Given the description of an element on the screen output the (x, y) to click on. 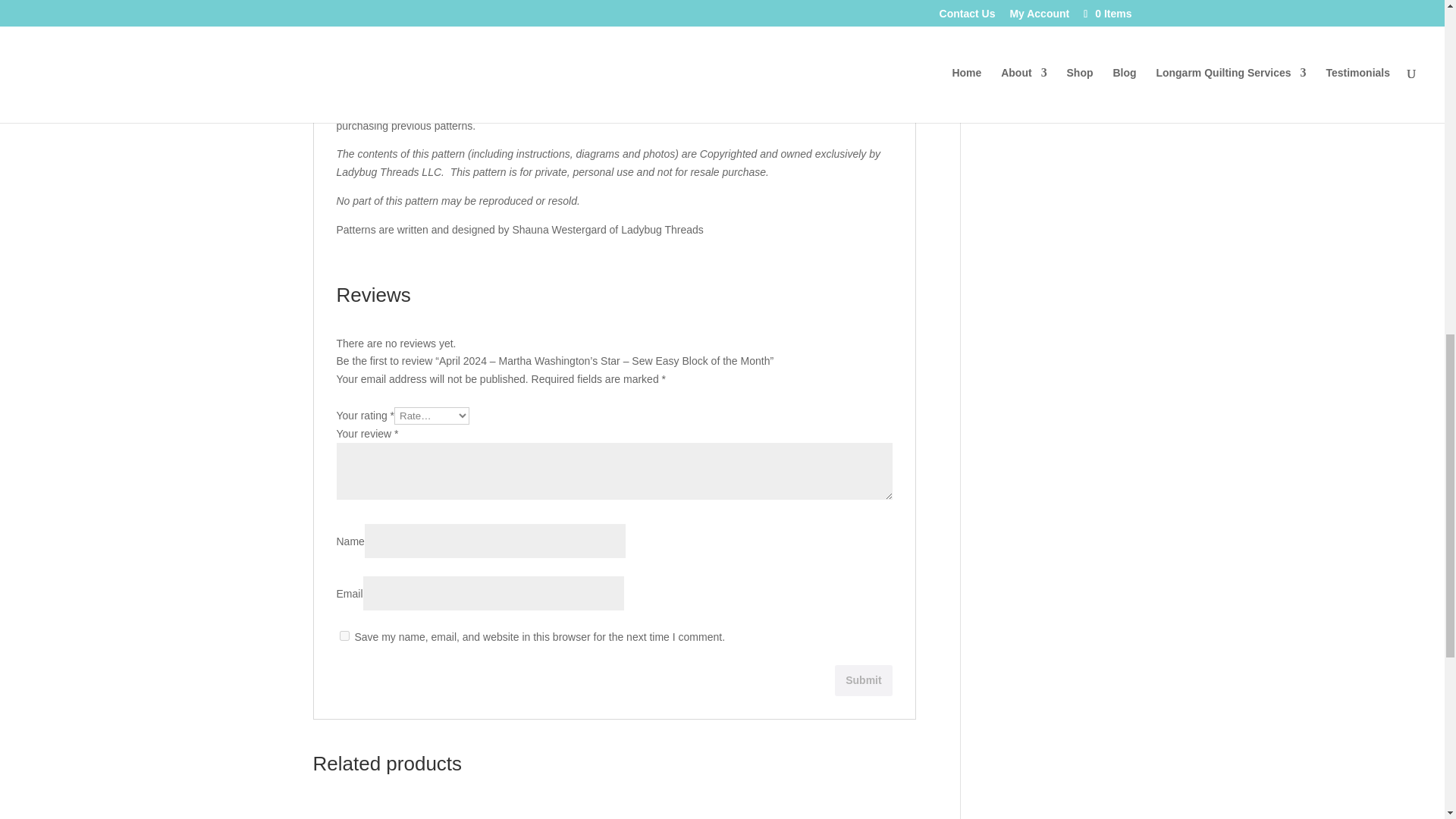
Submit (862, 680)
Submit (862, 680)
yes (344, 635)
